Given the description of an element on the screen output the (x, y) to click on. 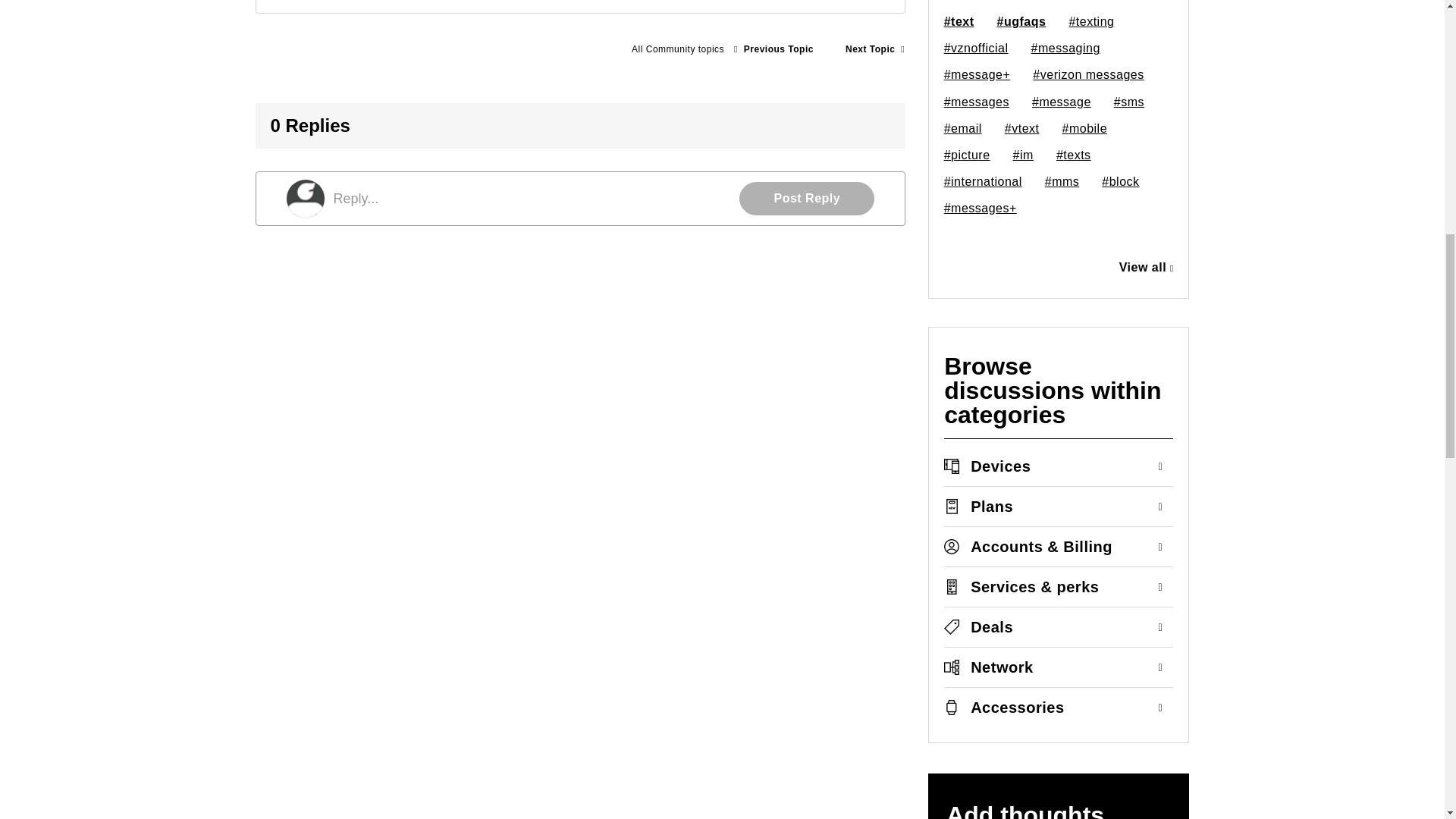
Verizon Messages (677, 49)
Spell correction colors (874, 49)
